Given the description of an element on the screen output the (x, y) to click on. 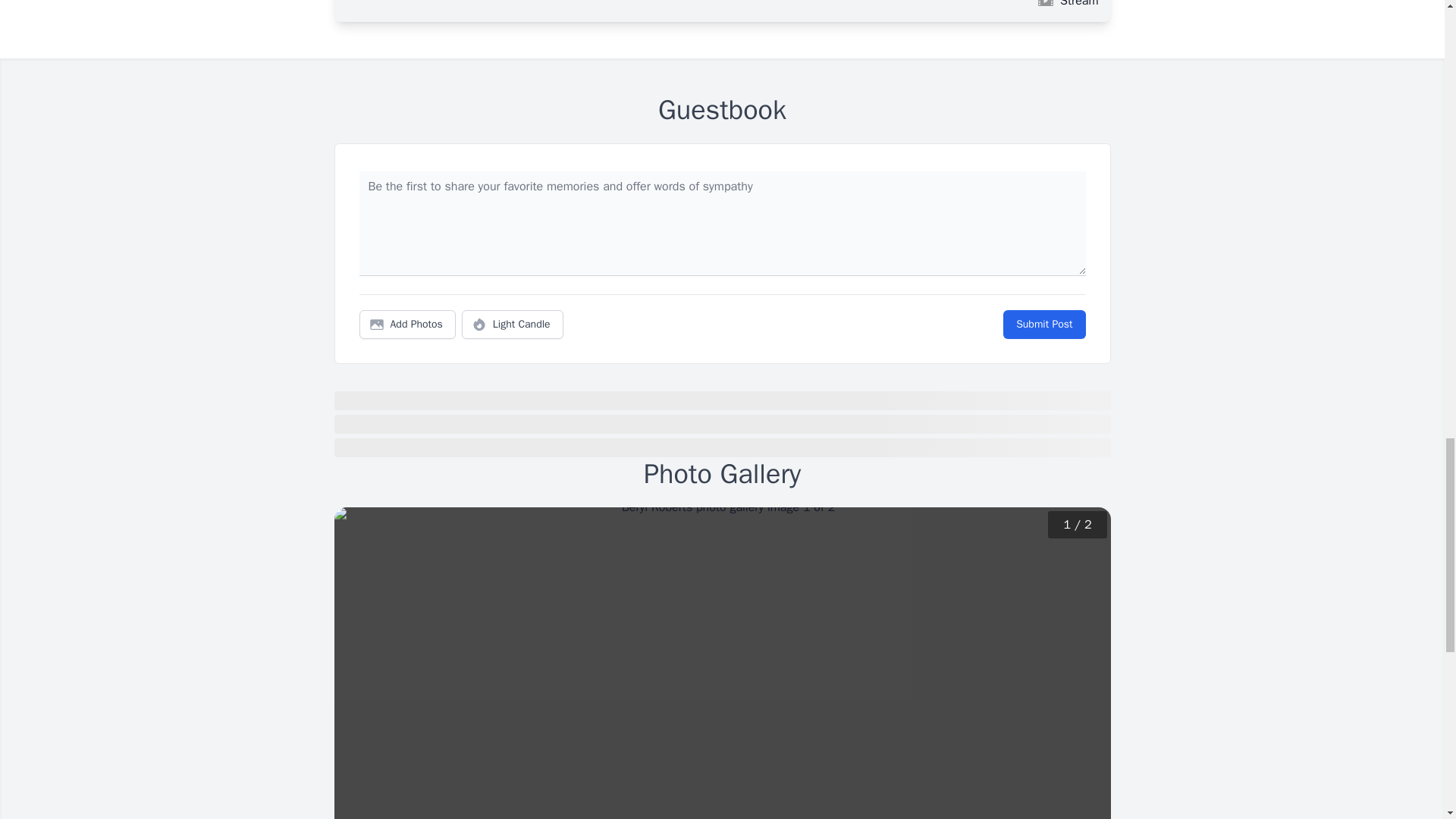
Light Candle (512, 324)
Add Photos (407, 324)
Submit Post (1043, 324)
